Given the description of an element on the screen output the (x, y) to click on. 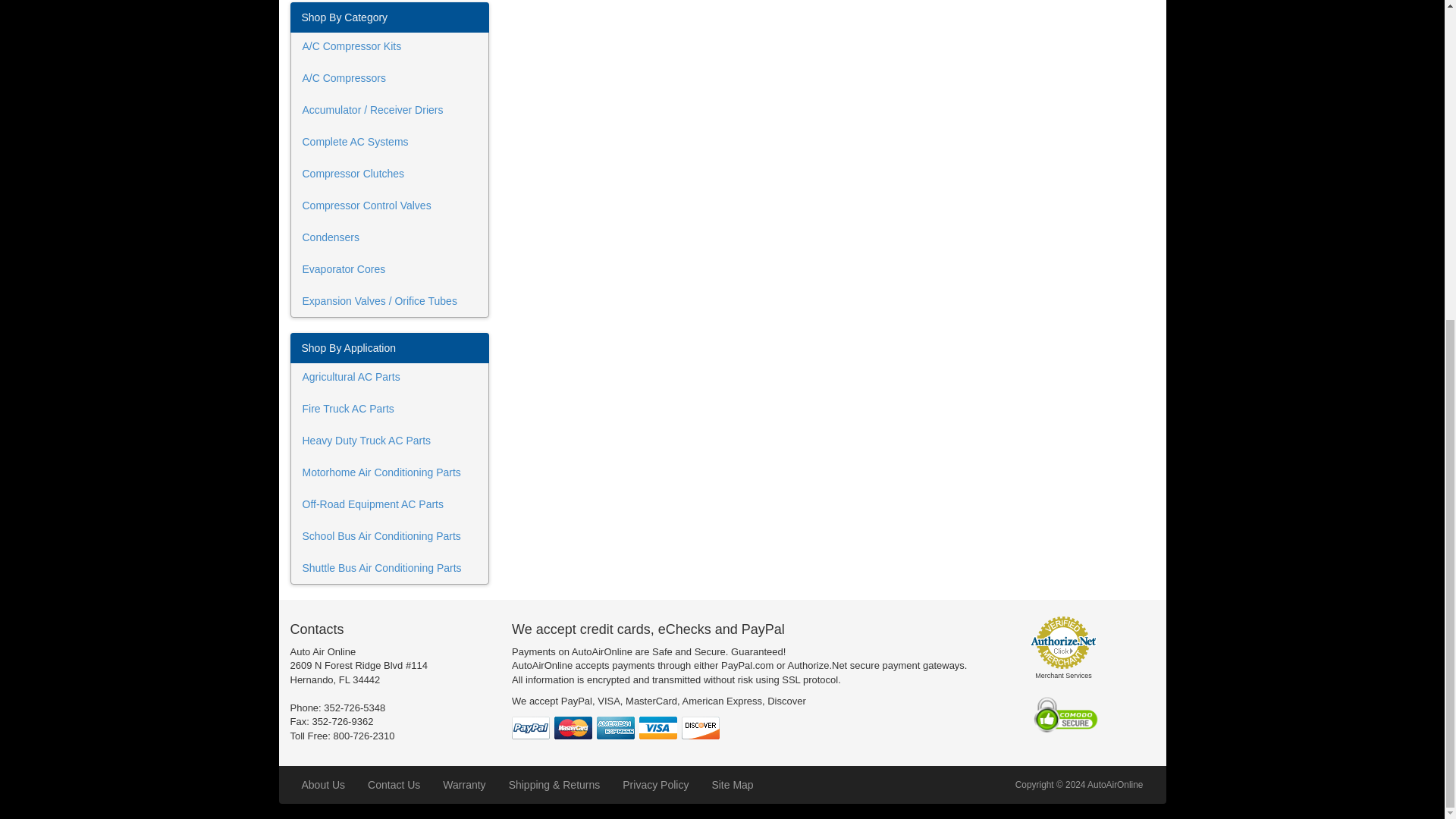
Off-Road Equipment AC Parts (390, 504)
Condensers (390, 237)
Agricultural AC Parts (390, 377)
Contact Us (393, 784)
Automotive air conditioning motorhome air conditioning parts (390, 472)
Automotive air conditioning heavy duty truck ac parts (390, 440)
Compressor Control Valves (390, 205)
Automotive air conditioning compressor clutches (390, 173)
Automotive air conditioning condensers (390, 237)
Compressor Clutches (390, 173)
About Us (322, 784)
Automotive air conditioning complete ac systems (390, 142)
Automotive air conditioning fire truck ac parts (390, 409)
Fire Truck AC Parts (390, 409)
